Given the description of an element on the screen output the (x, y) to click on. 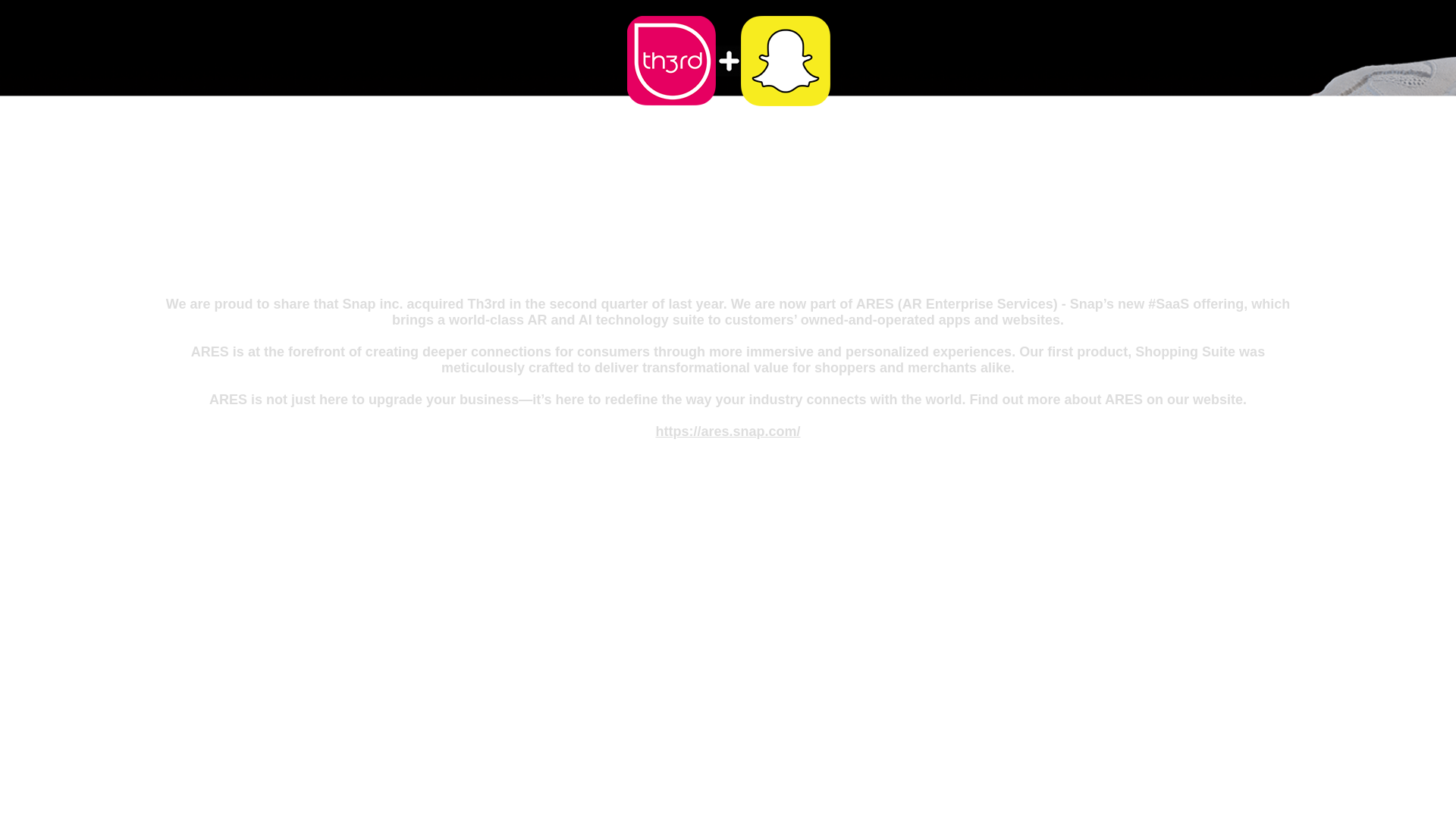
WPBrigade Element type: text (1409, 807)
https://ares.snap.com/ Element type: text (727, 431)
